Given the description of an element on the screen output the (x, y) to click on. 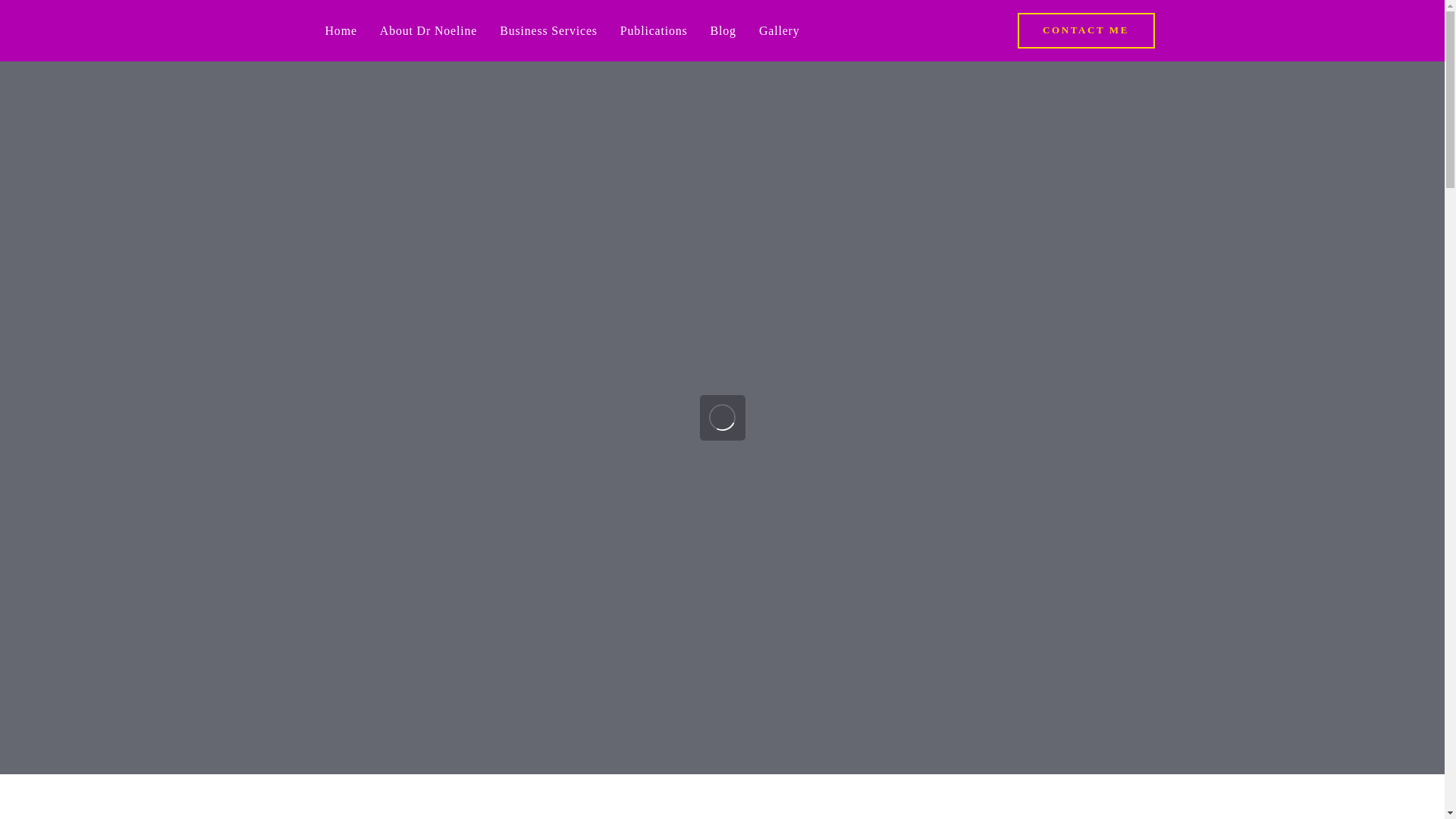
Publications (653, 30)
About Dr Noeline (427, 30)
Business Services (547, 30)
CONTACT ME (1085, 30)
Gallery (779, 30)
